Given the description of an element on the screen output the (x, y) to click on. 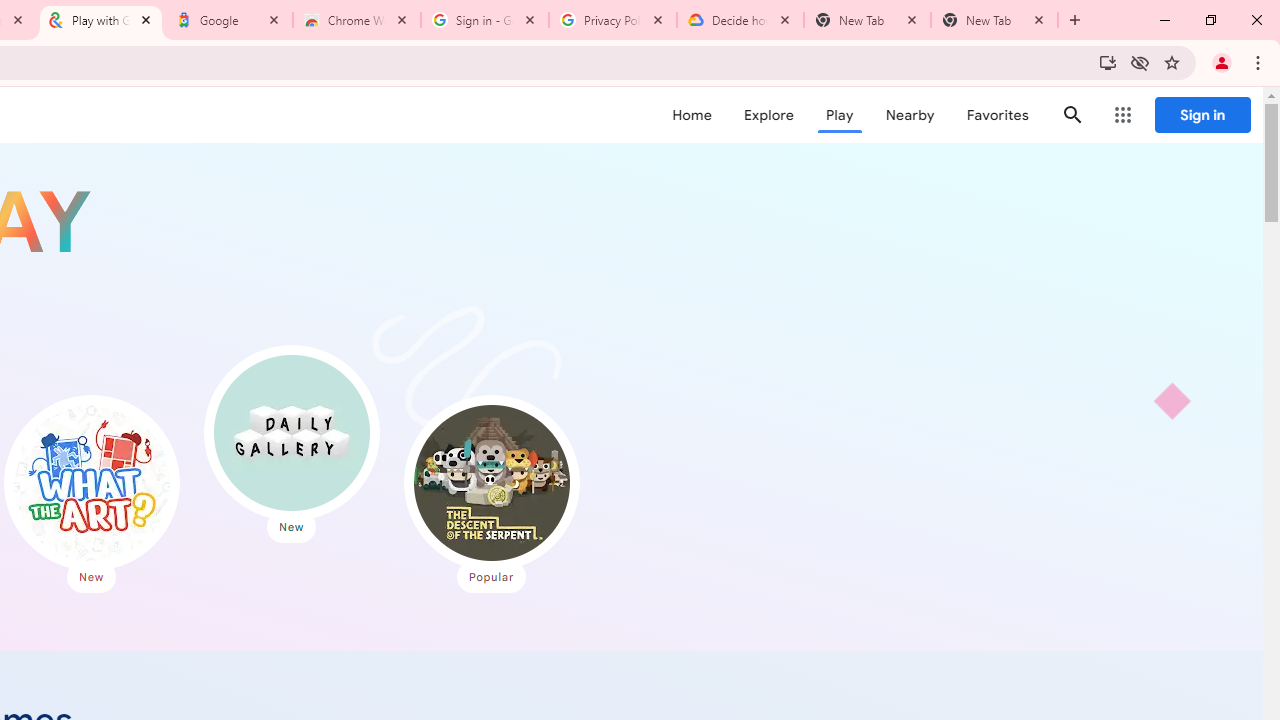
What the Art? (91, 482)
Install Google Arts & Culture (1107, 62)
New Tab (994, 20)
The Descent of the Serpent (491, 482)
Google (229, 20)
Sign in - Google Accounts (485, 20)
